Given the description of an element on the screen output the (x, y) to click on. 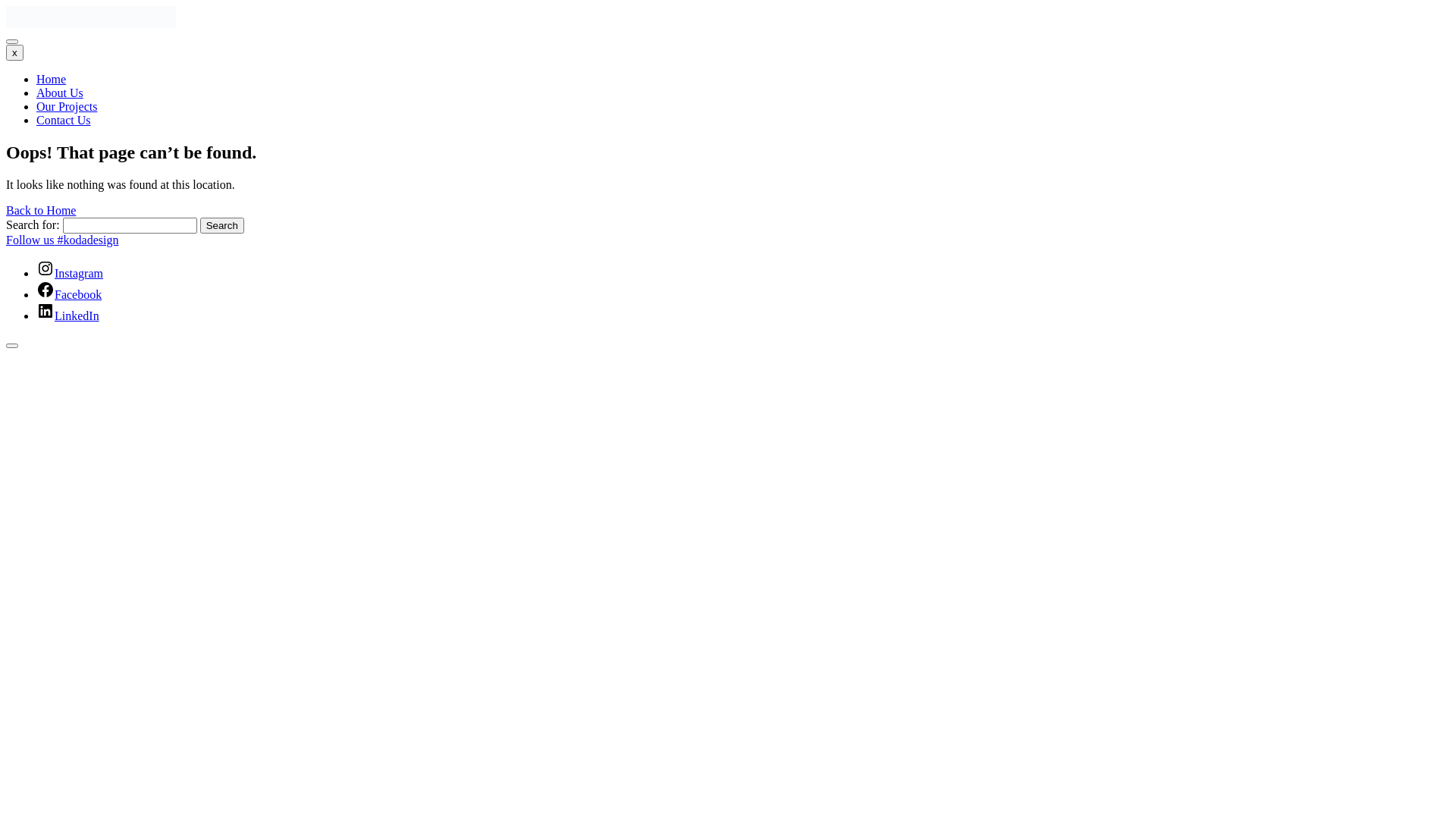
Search Element type: text (222, 225)
Back to Home Element type: text (40, 209)
Contact Us Element type: text (63, 119)
Facebook Element type: text (68, 294)
Home Element type: text (50, 78)
Instagram Element type: text (69, 272)
LinkedIn Element type: text (67, 315)
Go to top Element type: hover (12, 345)
About Us Element type: text (59, 92)
Our Projects Element type: text (66, 106)
x Element type: text (14, 52)
Follow us #kodadesign Element type: text (62, 239)
